Given the description of an element on the screen output the (x, y) to click on. 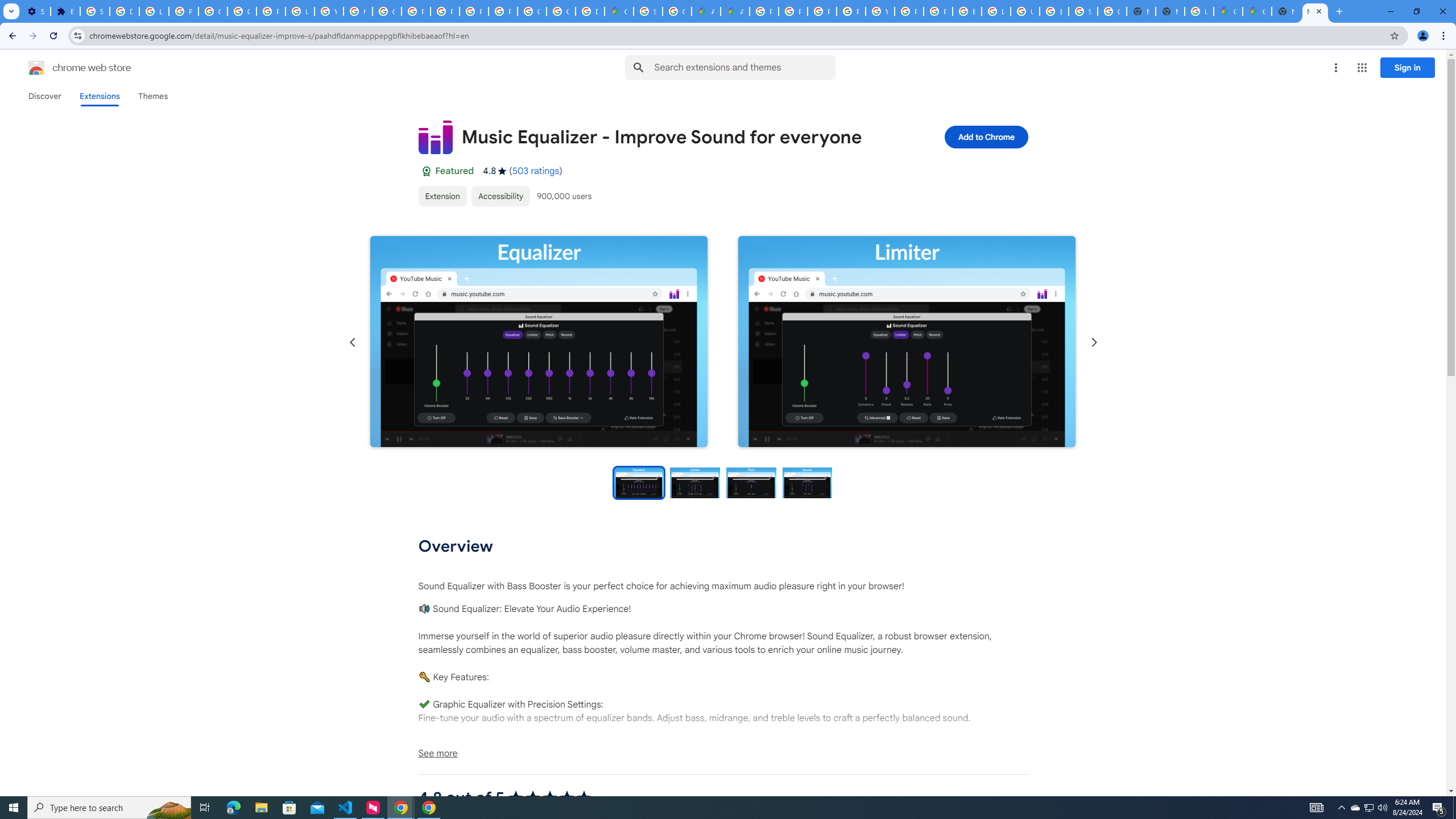
Search input (744, 67)
Preview slide 4 (807, 482)
Item media 1 screenshot (538, 342)
Extensions (99, 95)
Preview slide 1 (637, 482)
More options menu (1335, 67)
Minimize (1390, 11)
Address and search bar (735, 35)
Preview slide 2 (694, 482)
